Given the description of an element on the screen output the (x, y) to click on. 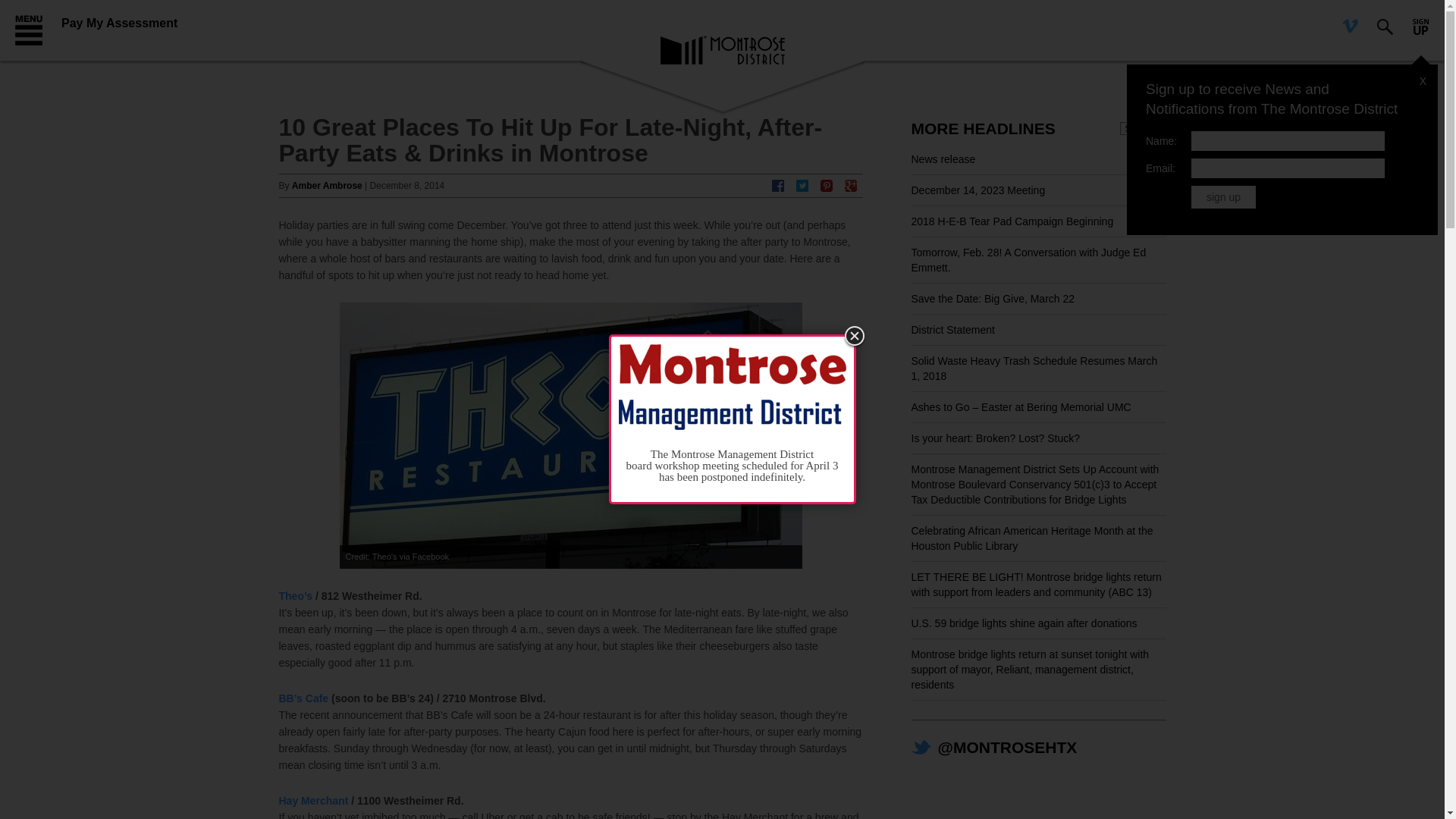
Pay My Assessment (119, 22)
Posts by Amber Ambrose (327, 185)
sign up (1223, 196)
sign up (1223, 196)
